Given the description of an element on the screen output the (x, y) to click on. 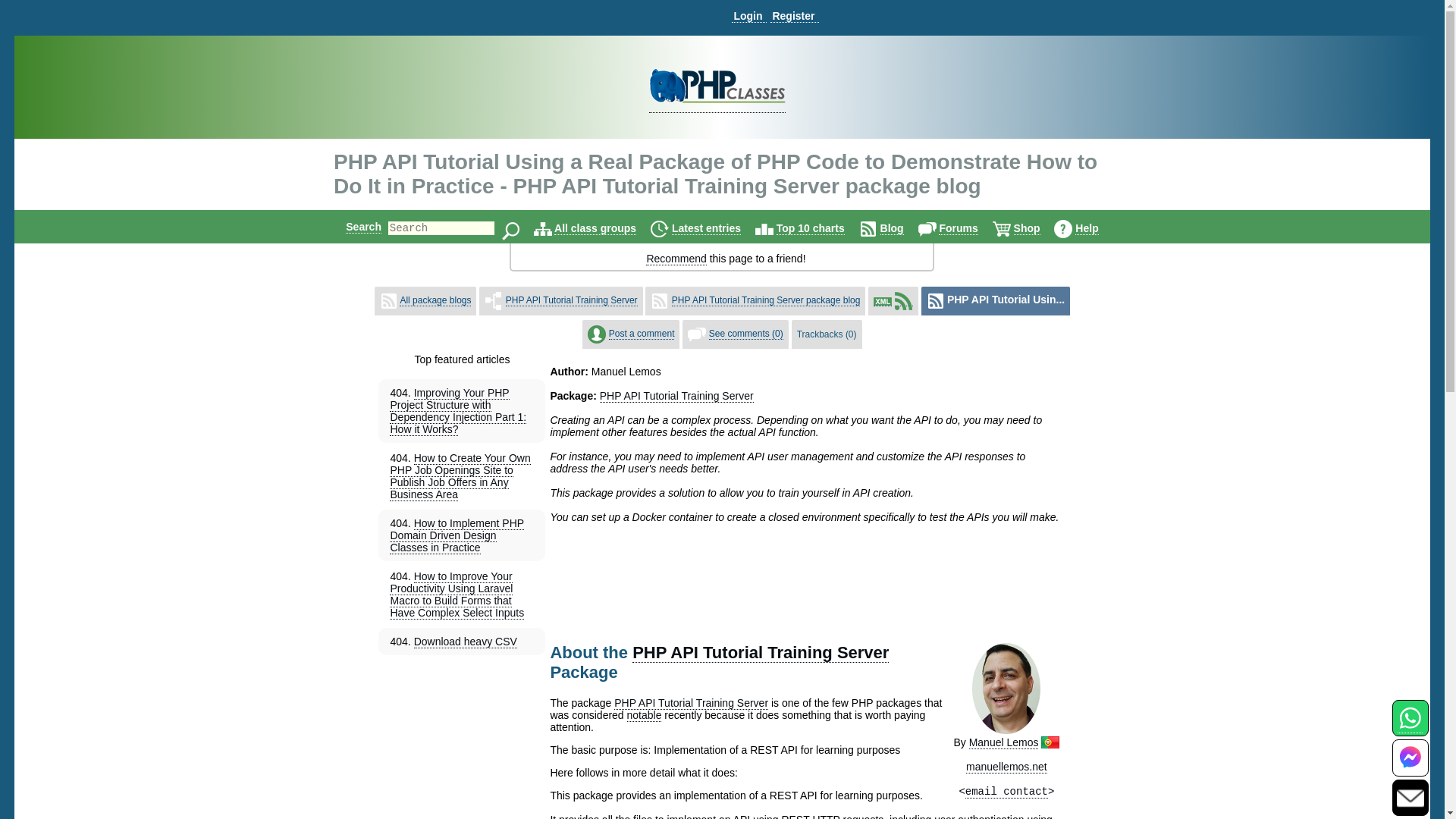
Login (748, 15)
All class groups (595, 228)
Forums (957, 228)
Latest entries (706, 228)
Contact us using WhatsApp (1409, 726)
Download heavy CSV (464, 641)
Blog (892, 228)
Search (363, 226)
manuellemos.net (1006, 766)
Register (794, 15)
